Given the description of an element on the screen output the (x, y) to click on. 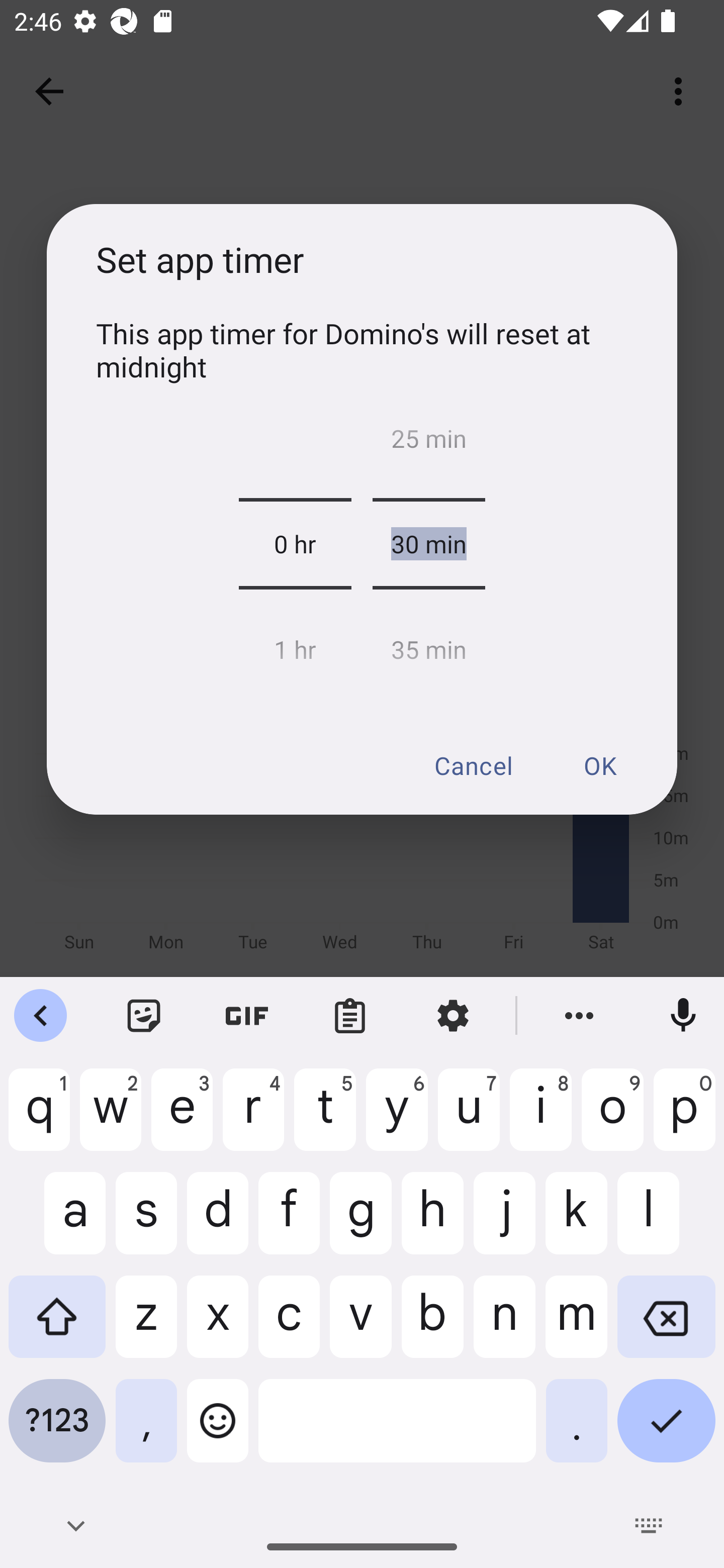
25 min (428, 443)
0 hr (294, 543)
30 min (428, 543)
1 hr (294, 644)
35 min (428, 644)
Cancel (473, 764)
OK (599, 764)
